Given the description of an element on the screen output the (x, y) to click on. 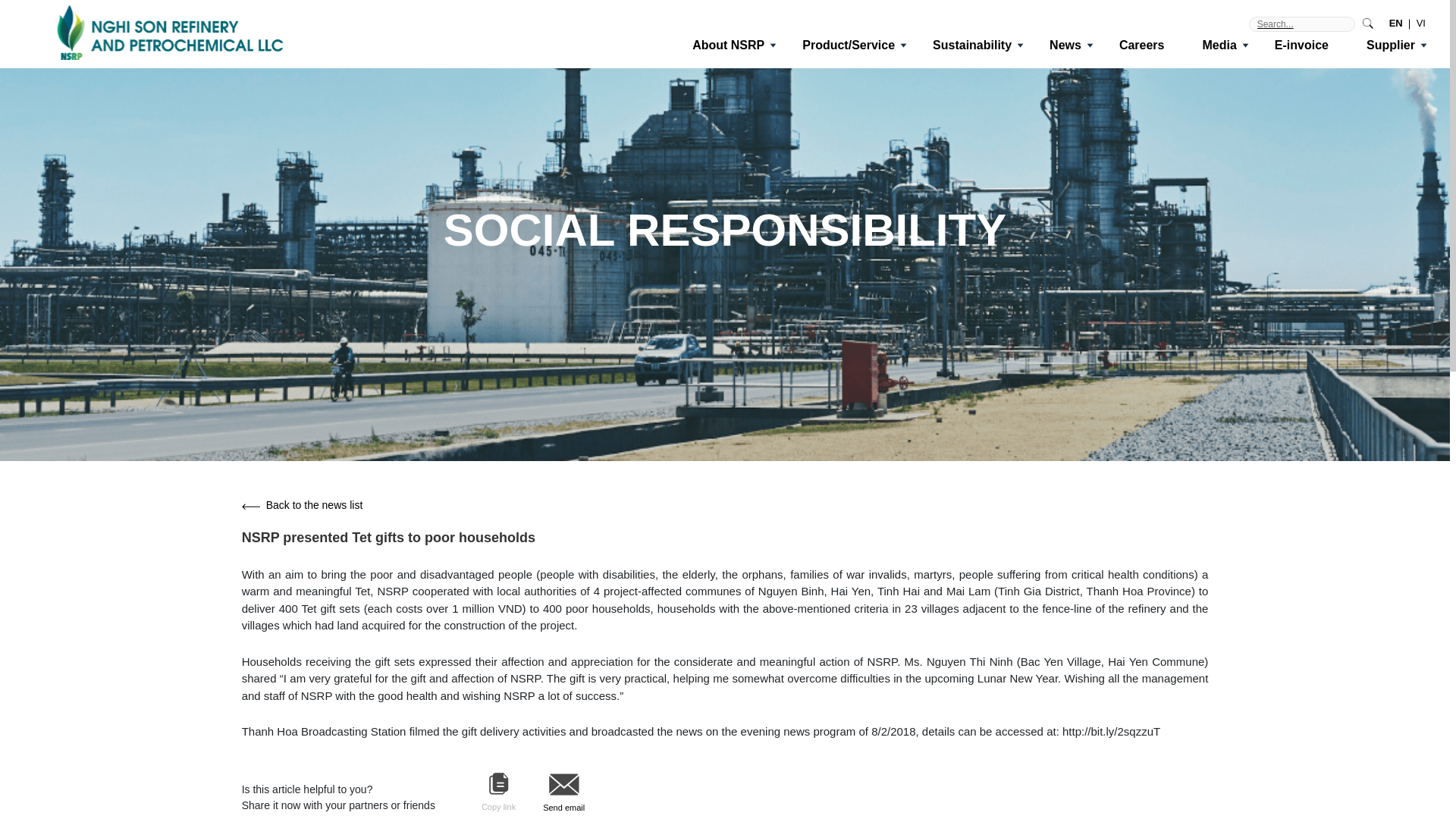
Sustainability (972, 43)
Copy link (498, 793)
Back to the news list (724, 505)
Media (1219, 43)
Supplier (1391, 43)
E-invoice (1301, 43)
Send email (564, 793)
EN (1395, 22)
VI (1420, 22)
Careers (1141, 43)
